Given the description of an element on the screen output the (x, y) to click on. 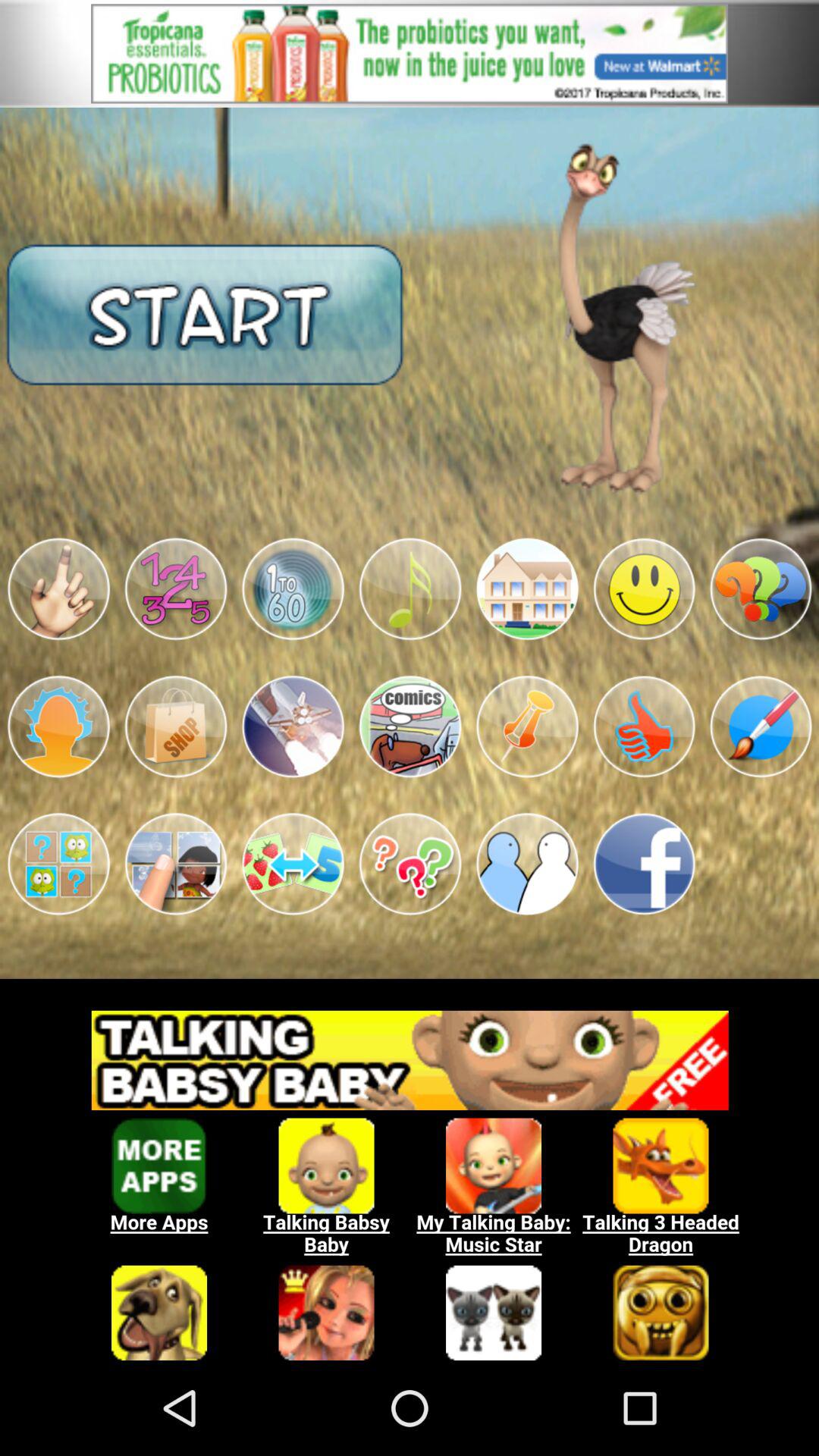
click app (175, 726)
